Given the description of an element on the screen output the (x, y) to click on. 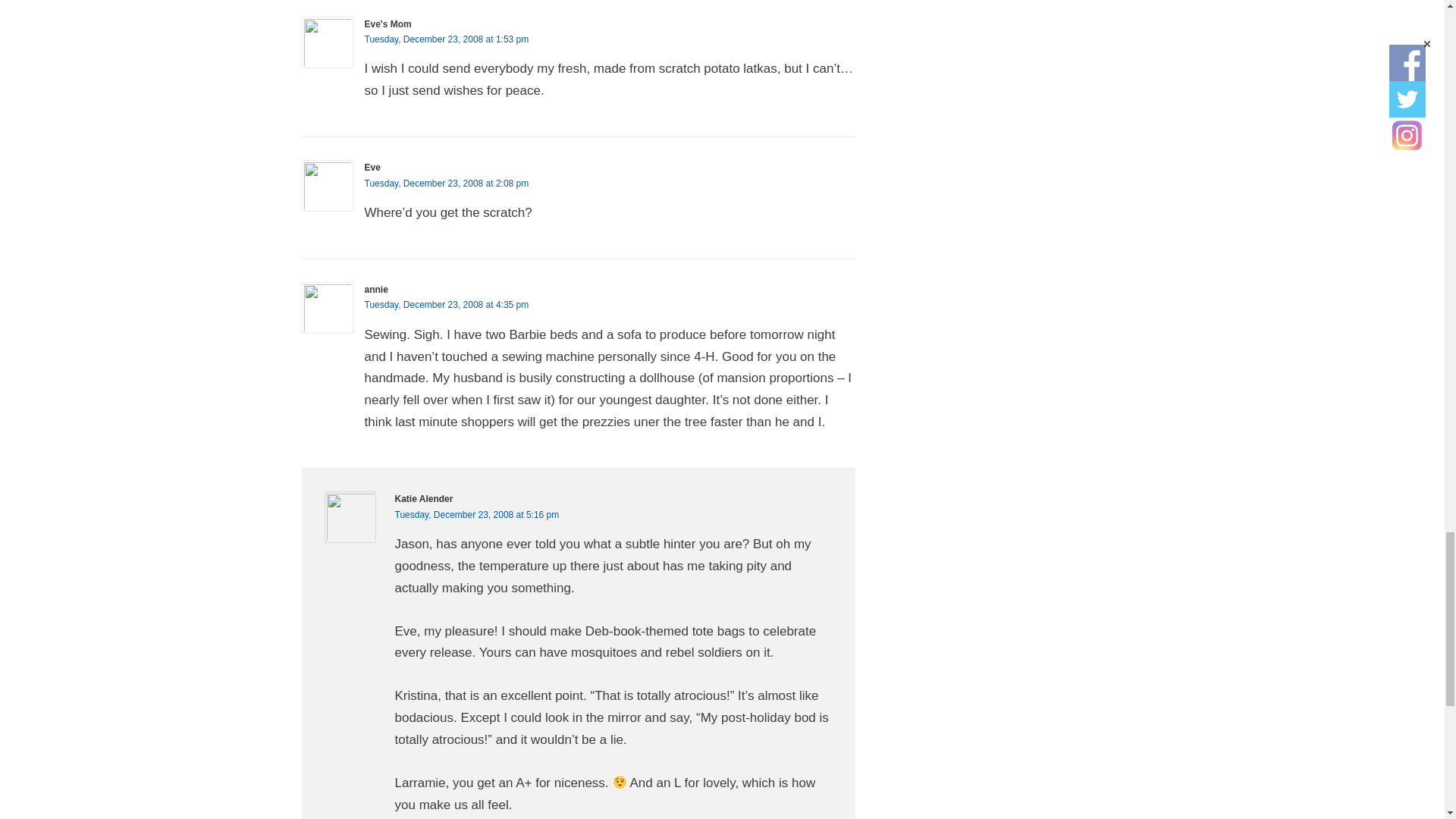
annie (375, 289)
Tuesday, December 23, 2008 at 1:53 pm (446, 39)
Tuesday, December 23, 2008 at 5:16 pm (476, 514)
Eve (372, 167)
Katie Alender (423, 498)
Tuesday, December 23, 2008 at 4:35 pm (446, 304)
Tuesday, December 23, 2008 at 2:08 pm (446, 183)
